Given the description of an element on the screen output the (x, y) to click on. 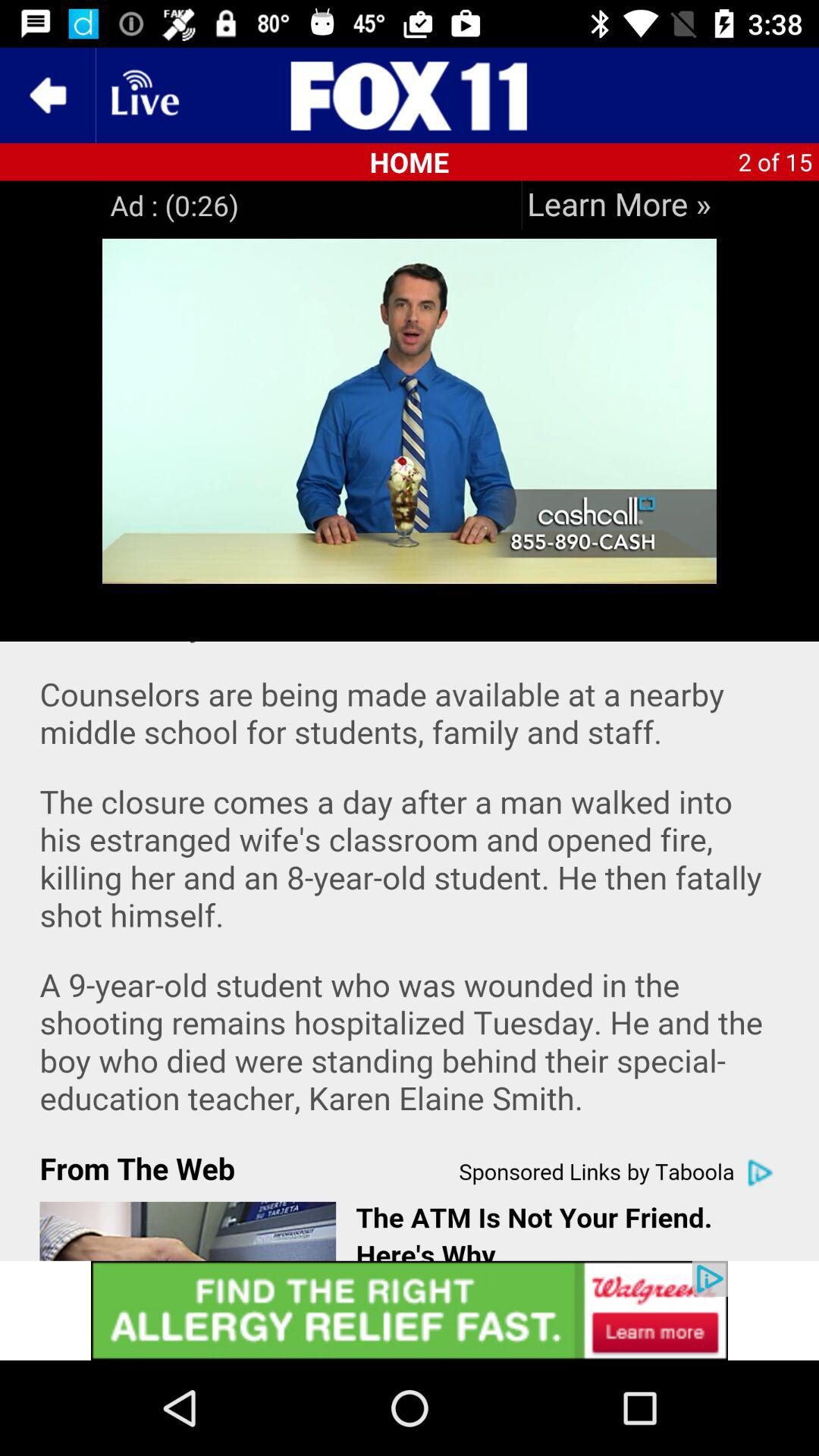
go to home page (409, 95)
